Given the description of an element on the screen output the (x, y) to click on. 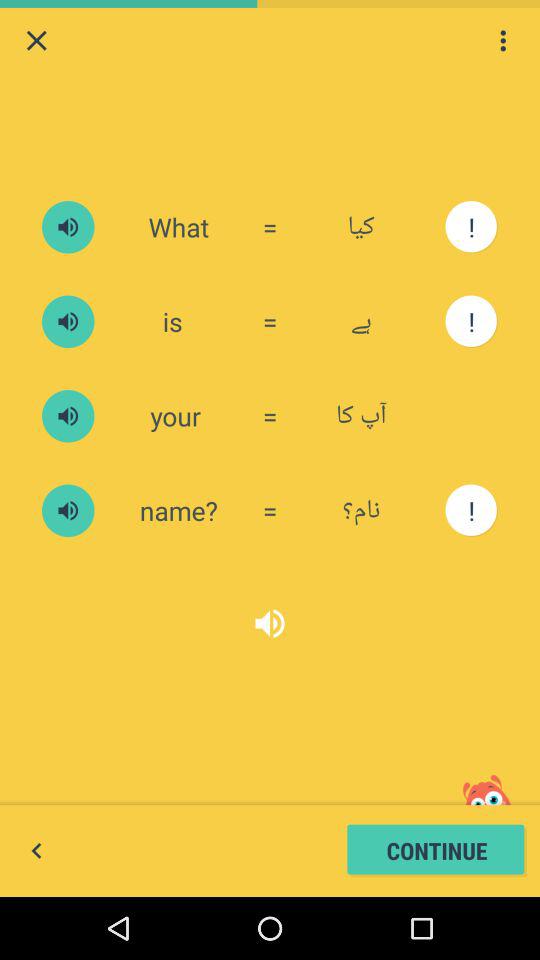
click here to close this page (36, 40)
